Given the description of an element on the screen output the (x, y) to click on. 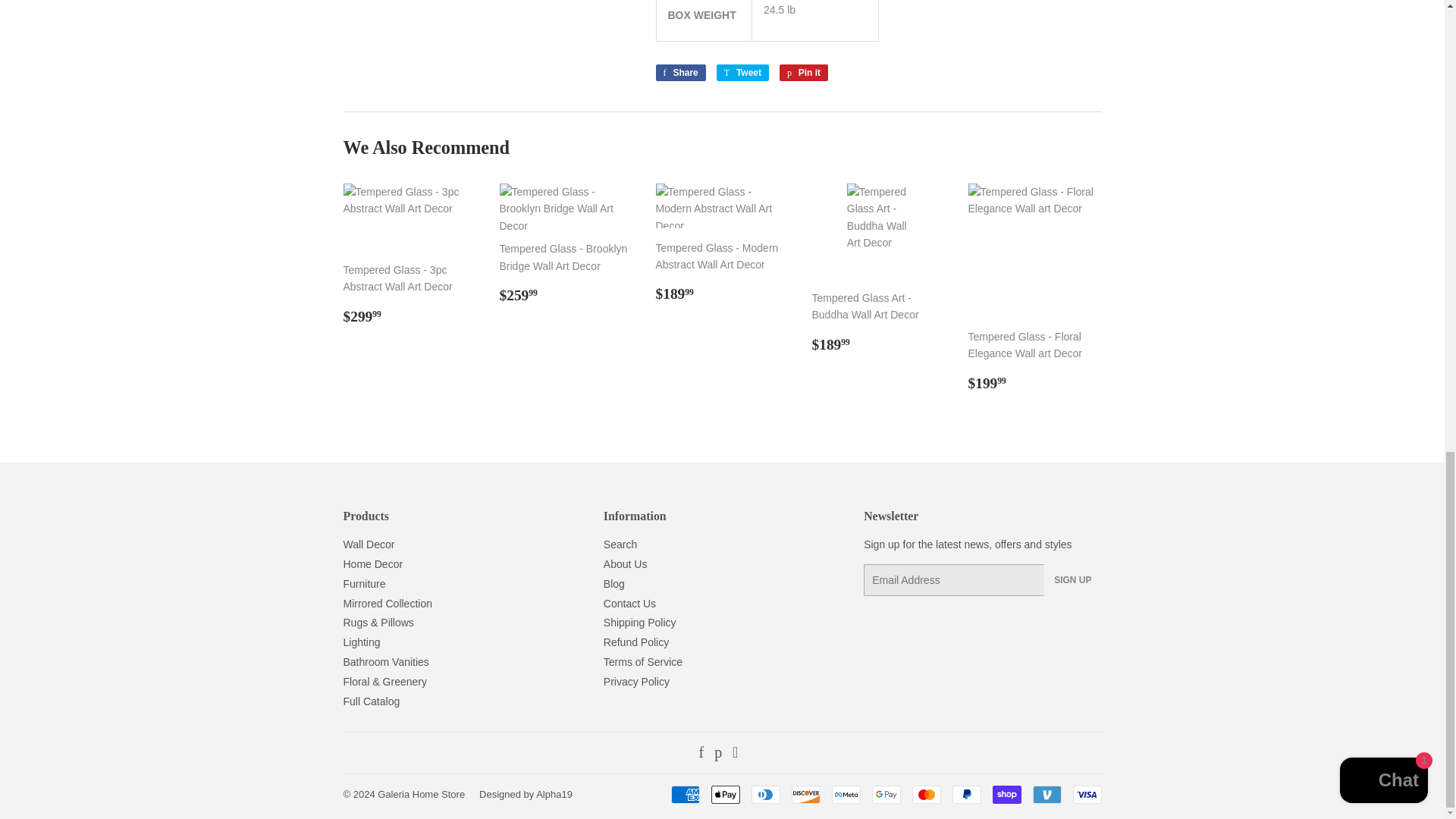
Pin on Pinterest (803, 72)
Mastercard (925, 794)
PayPal (966, 794)
Apple Pay (725, 794)
Tweet on Twitter (742, 72)
Visa (1085, 794)
Diners Club (764, 794)
Venmo (1046, 794)
Galeria Home Store on Instagram (735, 753)
Google Pay (886, 794)
Galeria Home Store on Facebook (701, 753)
American Express (683, 794)
Discover (806, 794)
Meta Pay (845, 794)
Shop Pay (1005, 794)
